Given the description of an element on the screen output the (x, y) to click on. 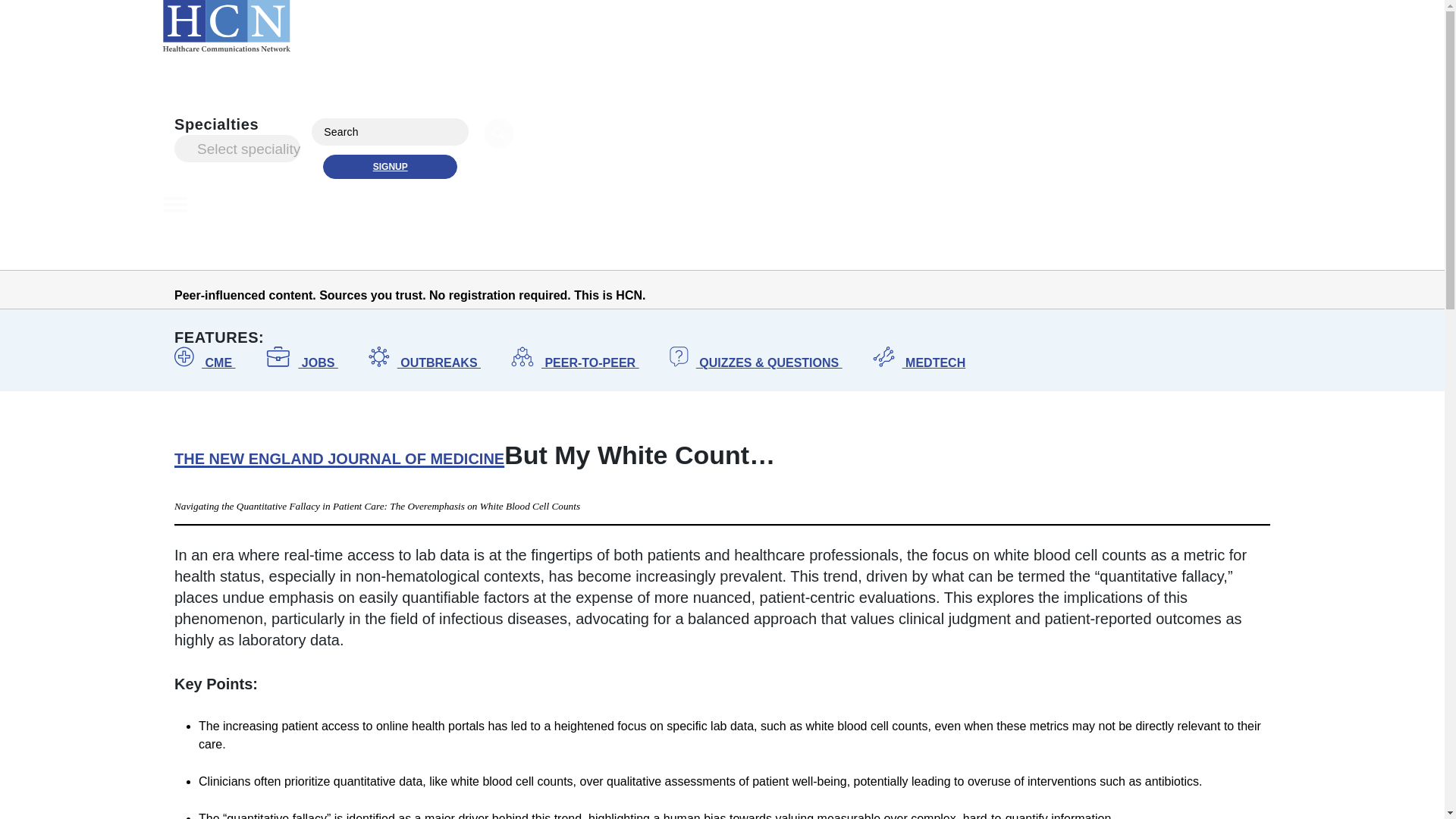
Healthcare Communications Network (226, 28)
